Given the description of an element on the screen output the (x, y) to click on. 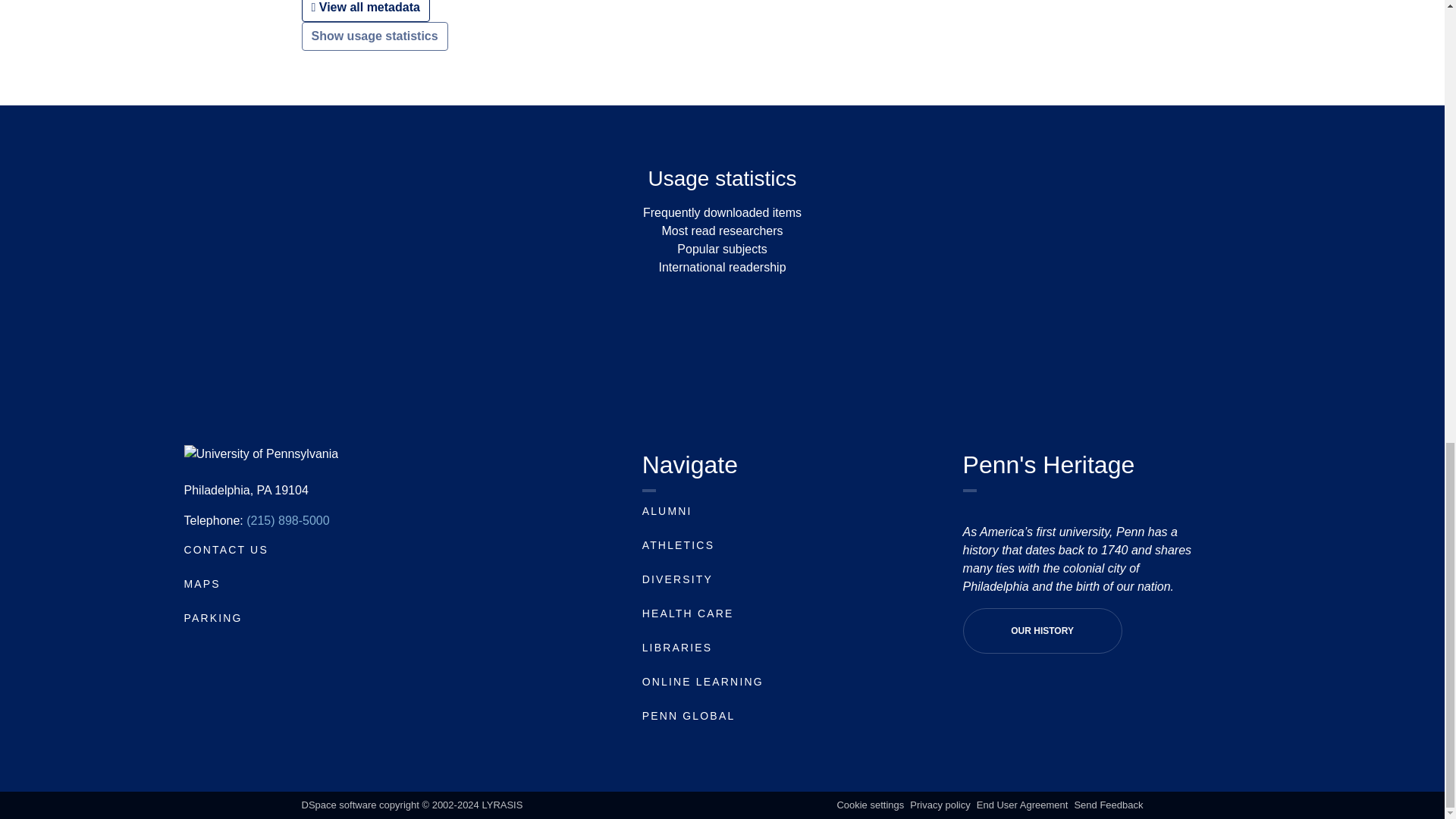
CONTACT US (225, 549)
MAPS (201, 583)
ONLINE LEARNING (702, 681)
LYRASIS (501, 804)
Frequently downloaded items (722, 212)
Most read researchers (722, 230)
ALUMNI (667, 510)
International readership (722, 267)
International readership (722, 267)
Most read researchers (722, 230)
Cookie settings (869, 804)
OUR HISTORY (1042, 630)
Frequently downloaded items (722, 212)
Privacy policy (939, 804)
PARKING (212, 617)
